Given the description of an element on the screen output the (x, y) to click on. 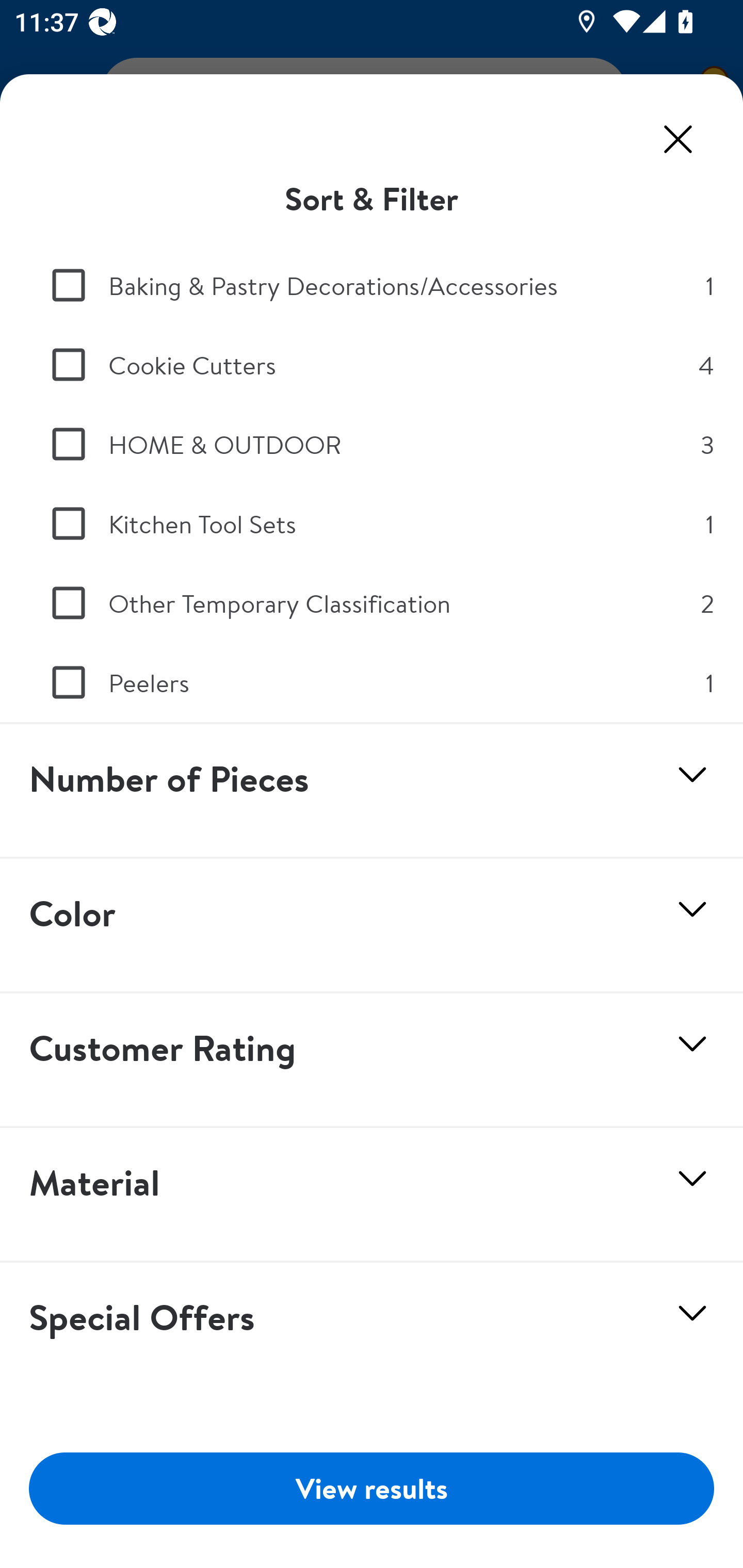
Close (677, 139)
Color Color Collapsed Collapsed (371, 926)
Material Material Collapsed Collapsed (371, 1194)
Special Offers Special Offers Collapsed Collapsed (371, 1329)
View results (371, 1487)
